Given the description of an element on the screen output the (x, y) to click on. 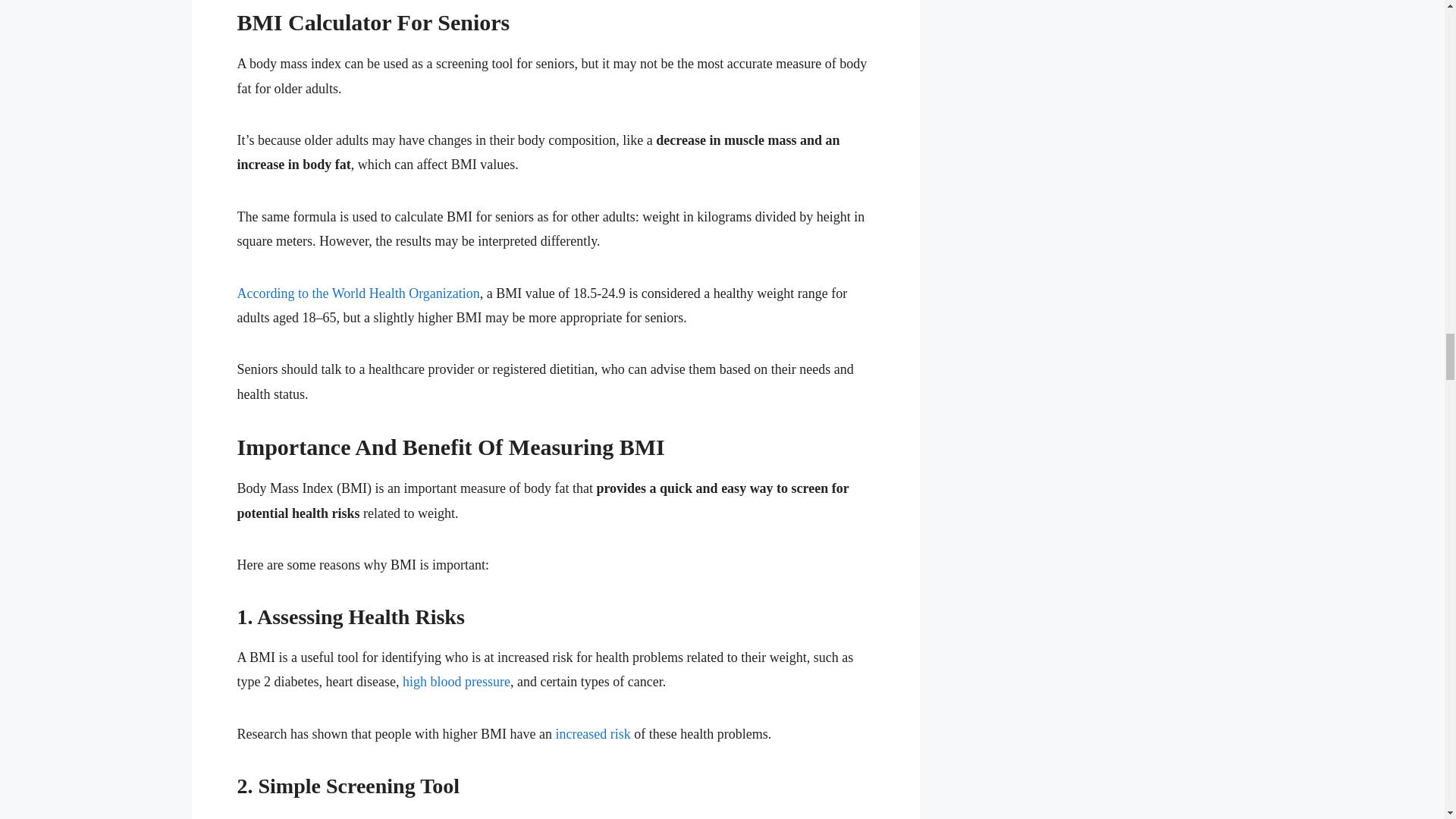
According to the World Health Organization (357, 293)
